Given the description of an element on the screen output the (x, y) to click on. 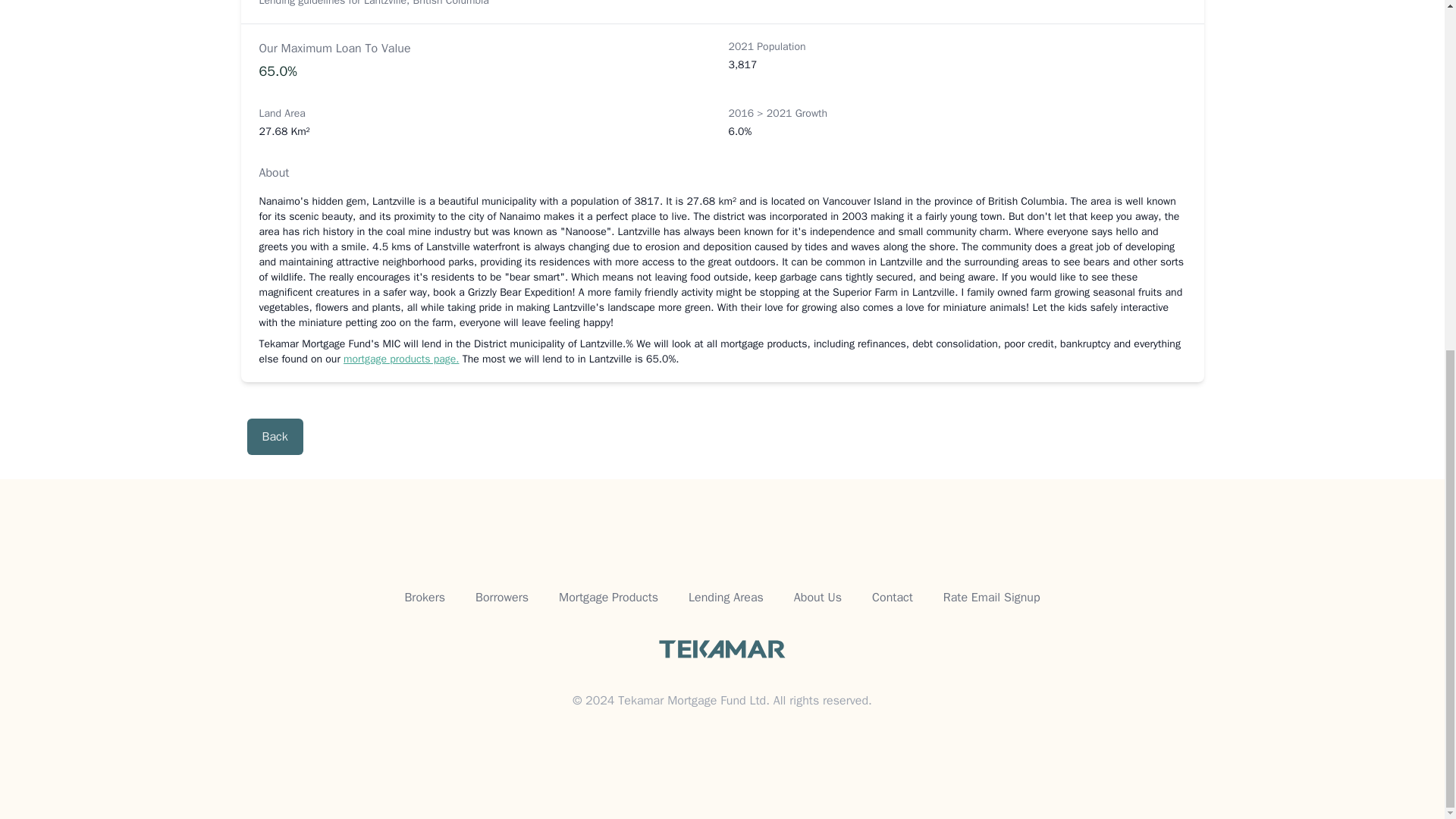
Borrowers (502, 597)
Rate Email Signup (992, 597)
Lending Areas (725, 597)
Mortgage Products (608, 597)
Back (274, 436)
About Us (817, 597)
mortgage products page. (400, 358)
Brokers (424, 597)
Contact (892, 597)
